Given the description of an element on the screen output the (x, y) to click on. 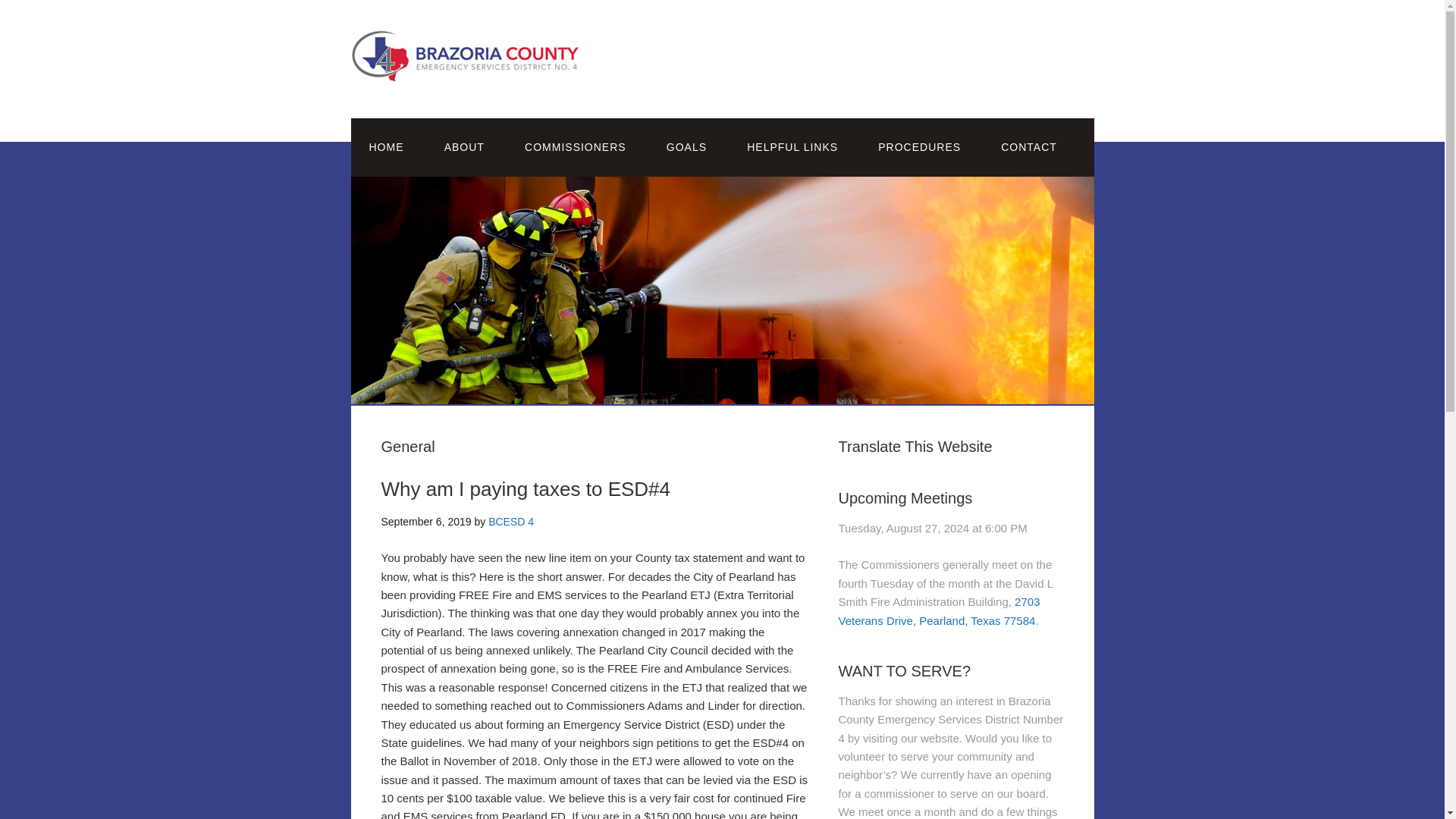
Posts by BCESD 4 (510, 521)
GOALS (686, 146)
CONTACT (1028, 146)
ABOUT (464, 146)
BCESD 4 (510, 521)
Brazoria County Emergency Services District No. 4 (464, 70)
HOME (386, 146)
PROCEDURES (919, 146)
Friday, September 6, 2019, 1:38 pm (425, 521)
COMMISSIONERS (575, 146)
2703 Veterans Drive, Pearland, Texas 77584 (939, 610)
HELPFUL LINKS (792, 146)
